Given the description of an element on the screen output the (x, y) to click on. 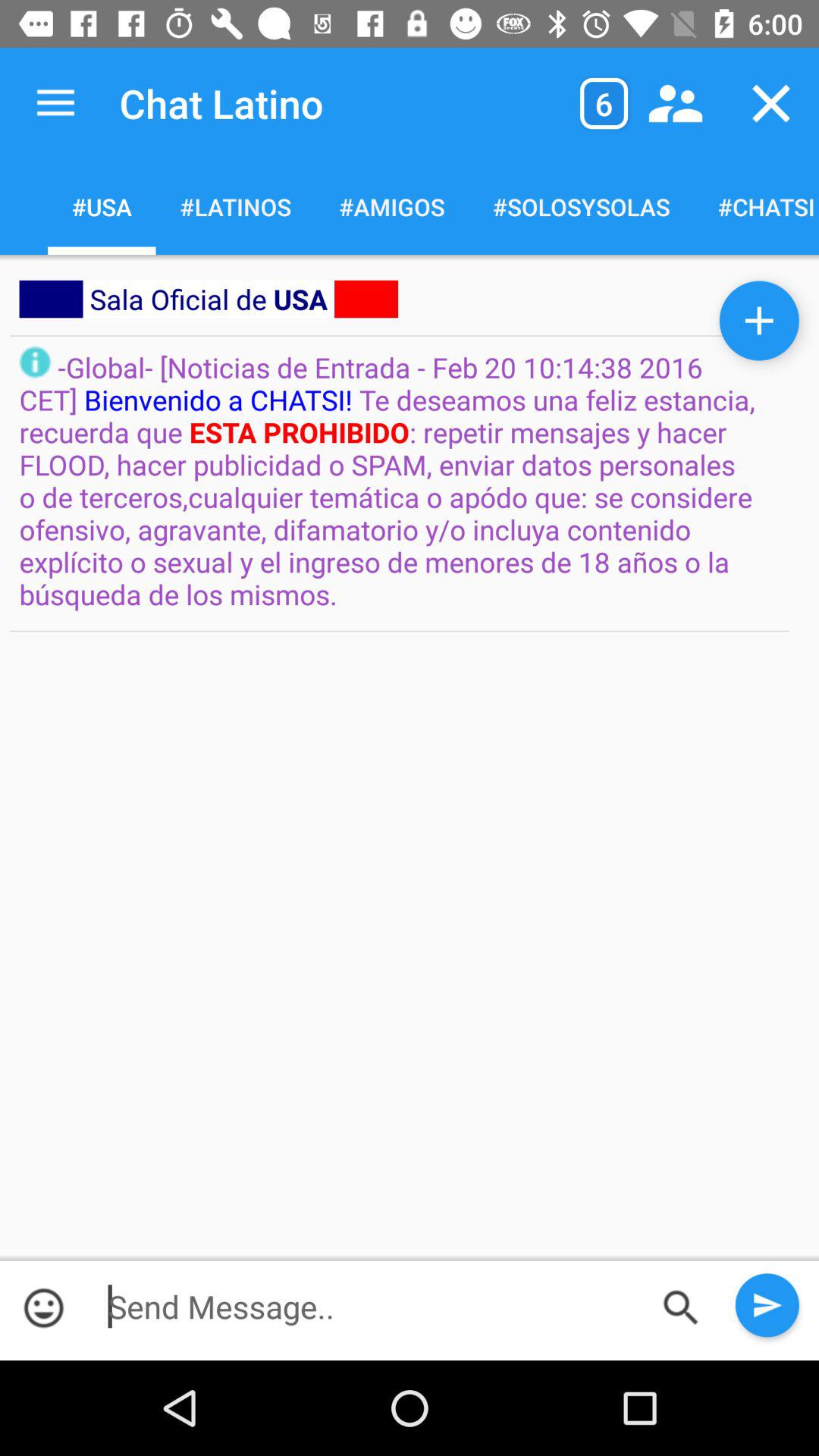
turn on the item next to the 6 item (675, 103)
